Given the description of an element on the screen output the (x, y) to click on. 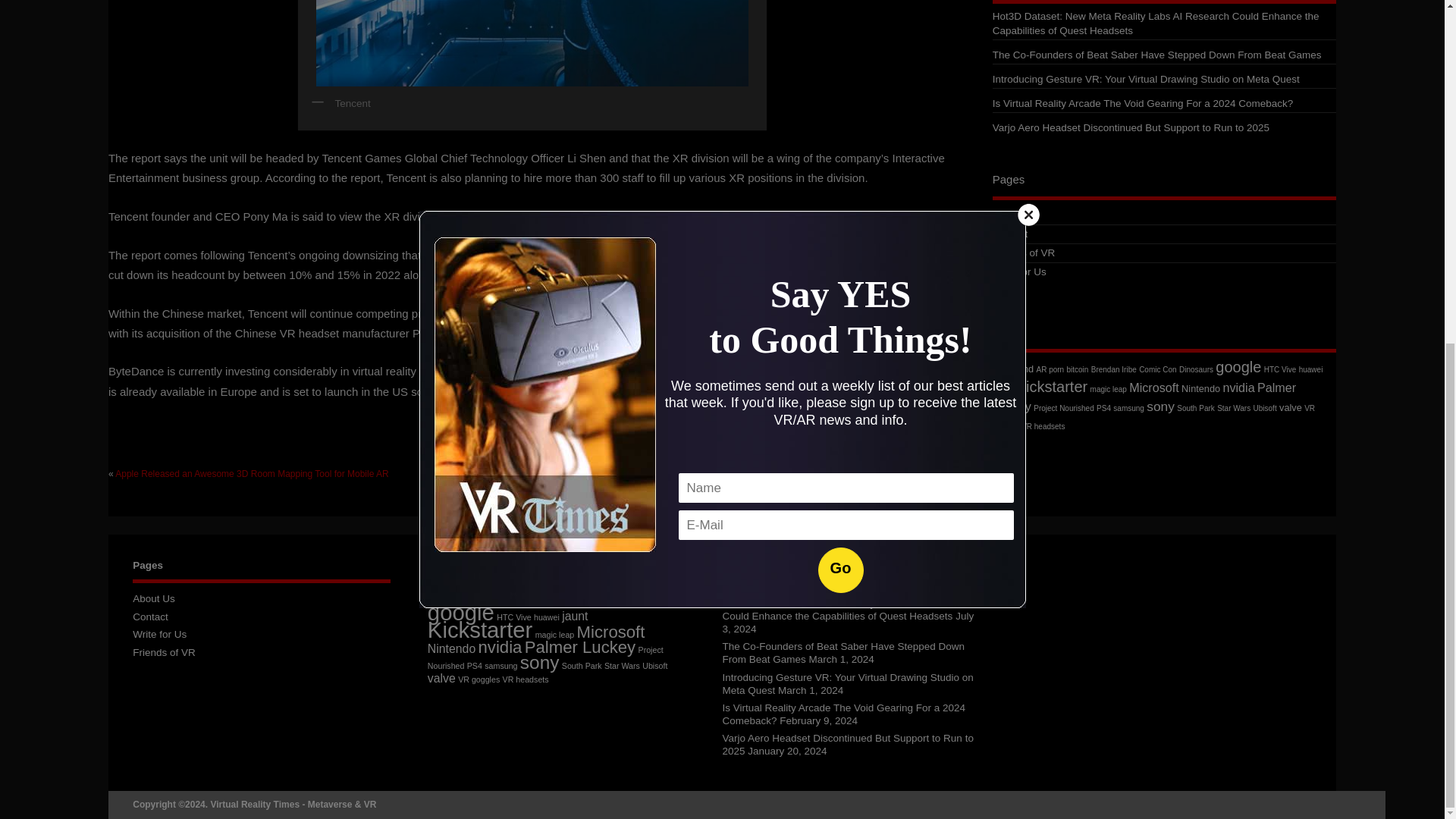
Go (839, 3)
